Given the description of an element on the screen output the (x, y) to click on. 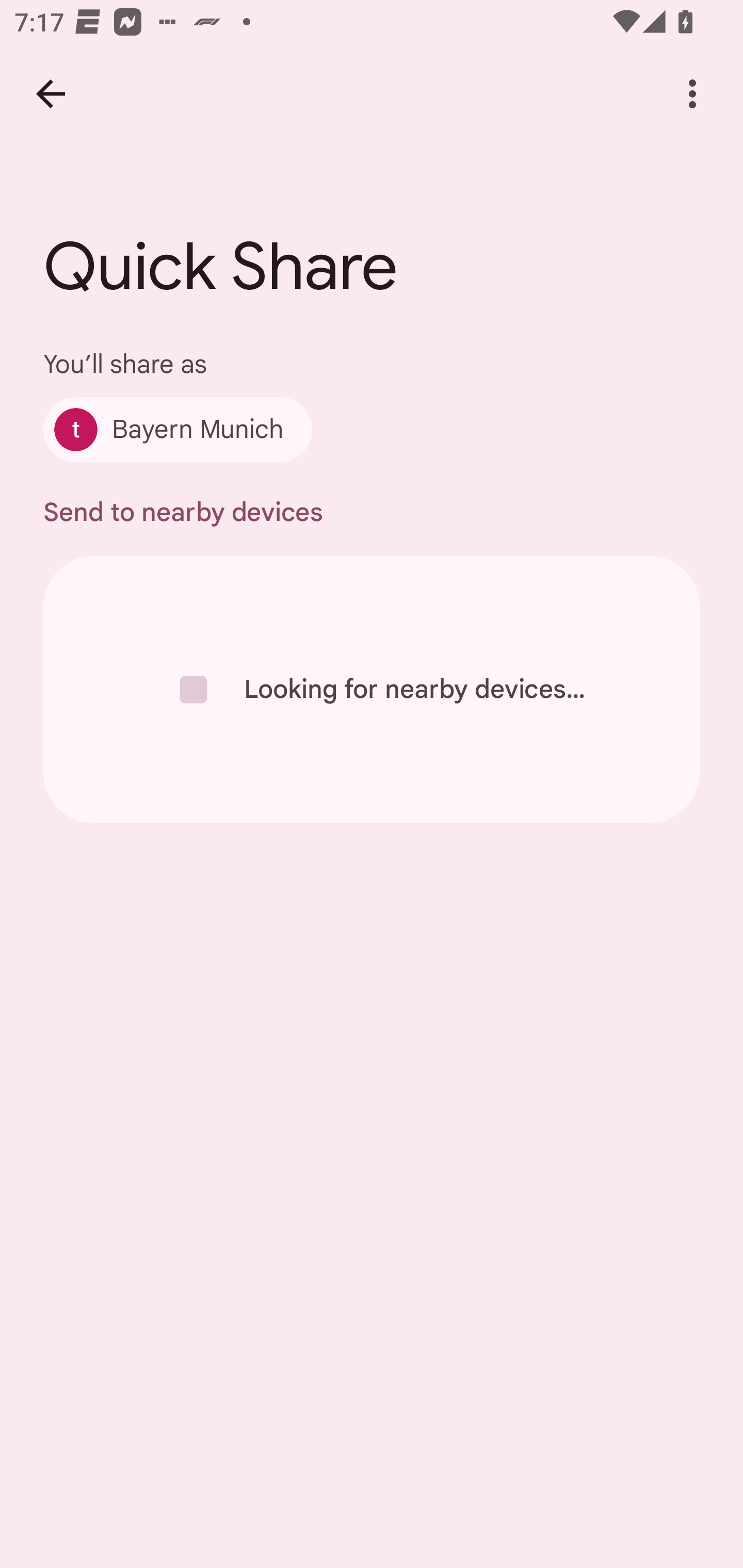
Back (50, 93)
More (692, 93)
Bayern Munich (177, 429)
